Given the description of an element on the screen output the (x, y) to click on. 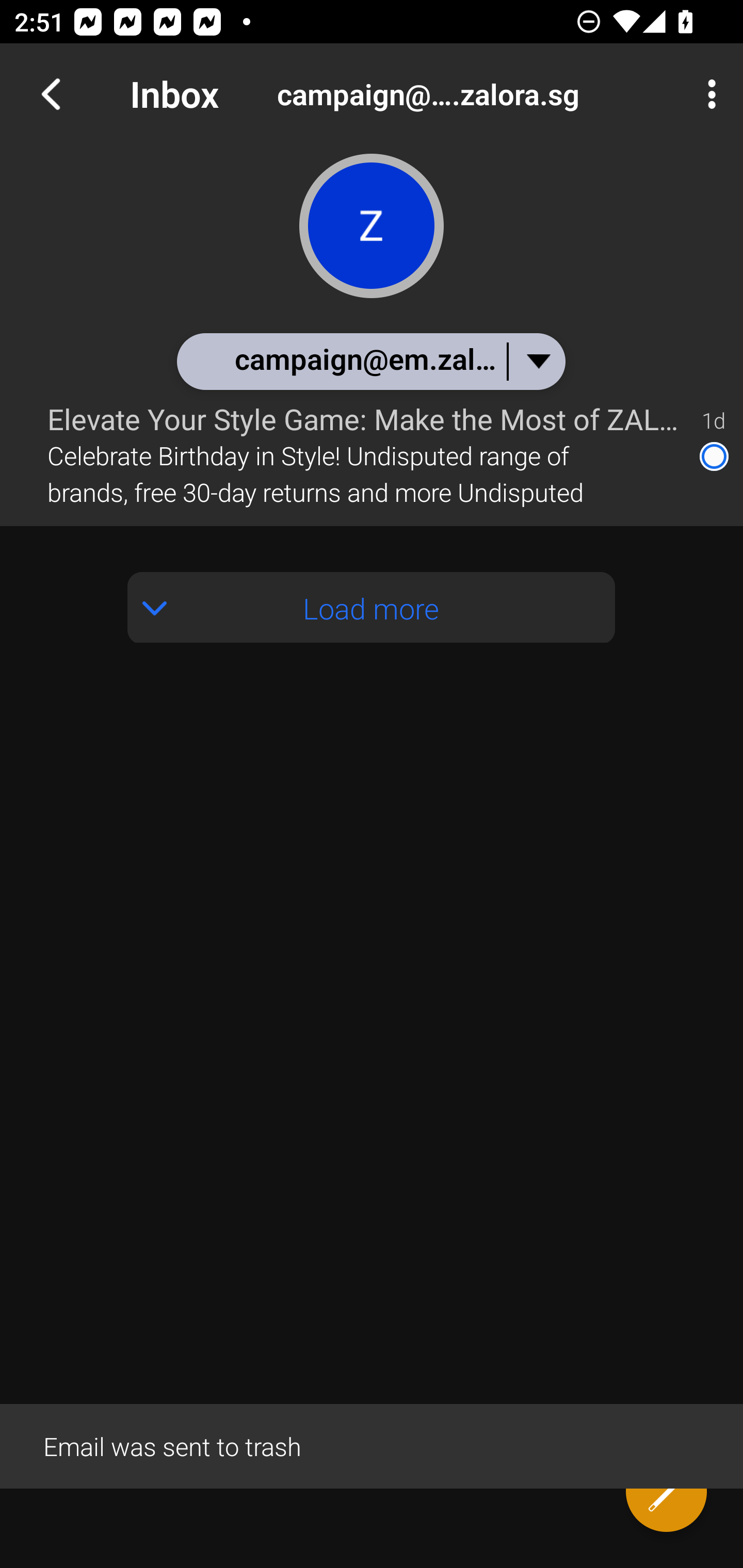
Navigate up (50, 93)
campaign@em.zalora.sg (481, 93)
More Options (706, 93)
campaign@em.zalora.sg & You (370, 361)
Load more (371, 607)
Email was sent to trash (371, 1445)
